Given the description of an element on the screen output the (x, y) to click on. 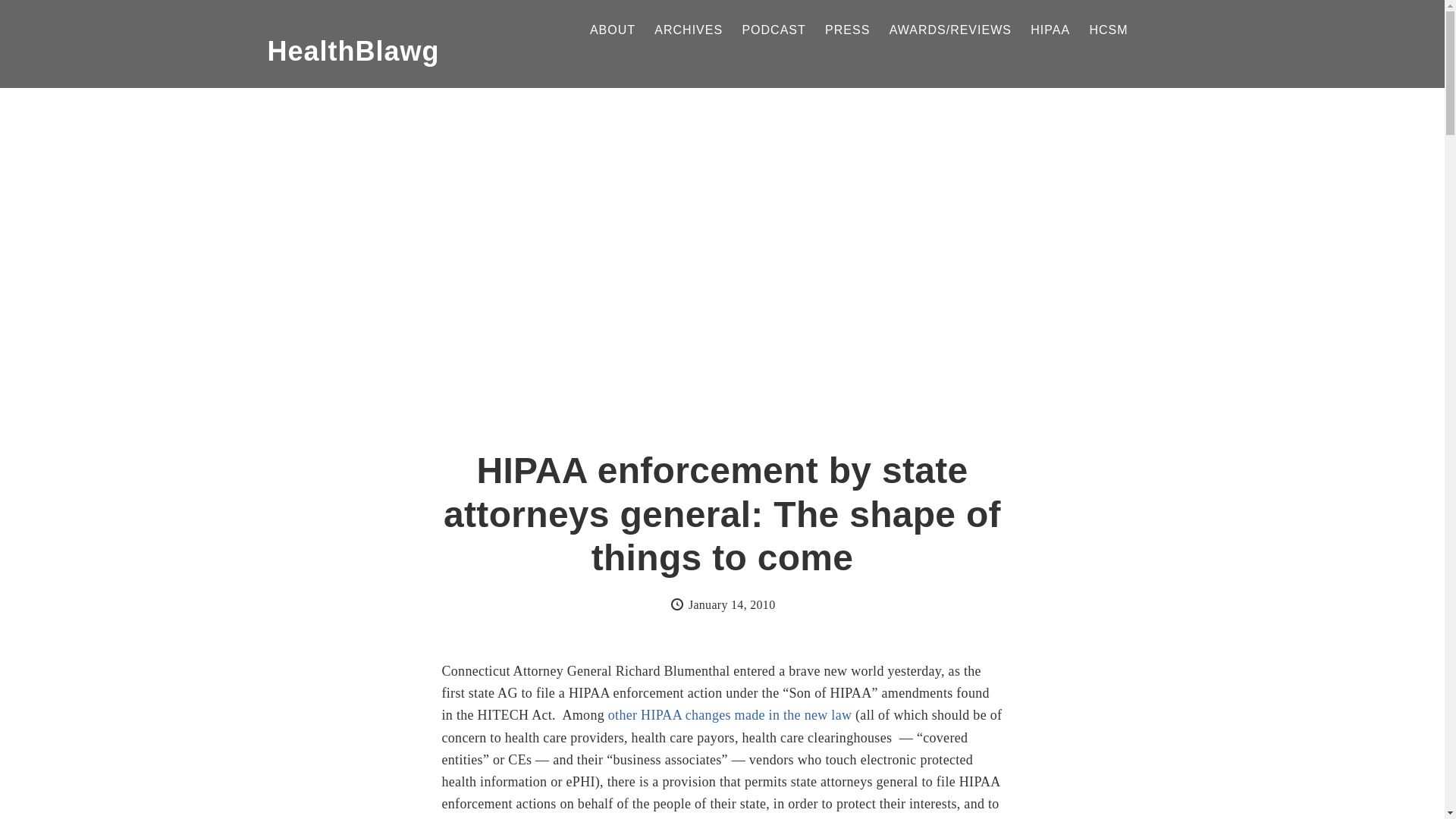
ARCHIVES (687, 30)
HealthBlawg (352, 51)
PODCAST (773, 30)
HIPAA (1050, 30)
HCSM (1107, 30)
PRESS (847, 30)
other HIPAA changes made in the new law (729, 714)
